Given the description of an element on the screen output the (x, y) to click on. 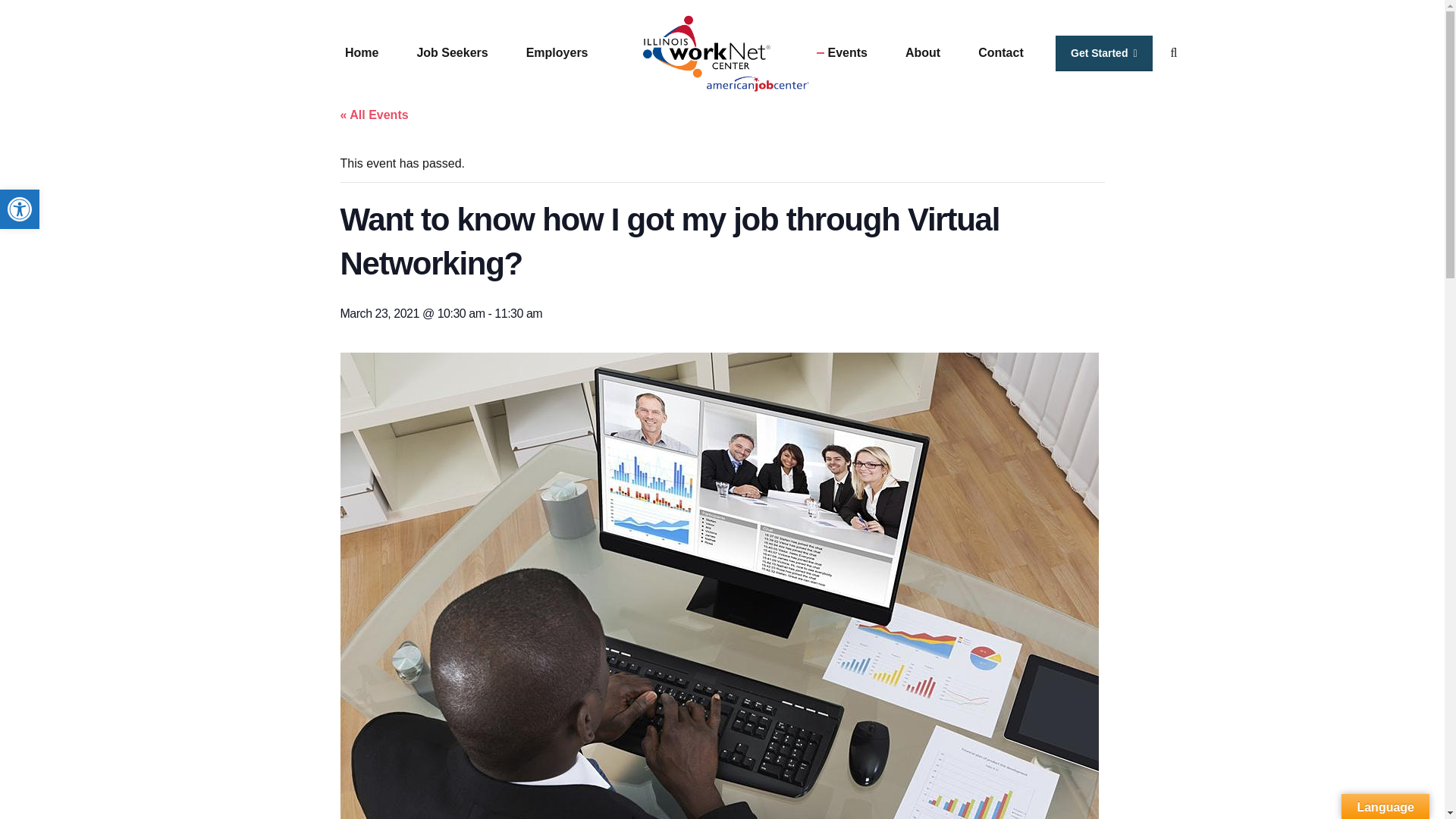
Get Started (1104, 53)
Accessibility Tools (19, 209)
Accessibility Tools (19, 209)
Get Started (19, 209)
